Given the description of an element on the screen output the (x, y) to click on. 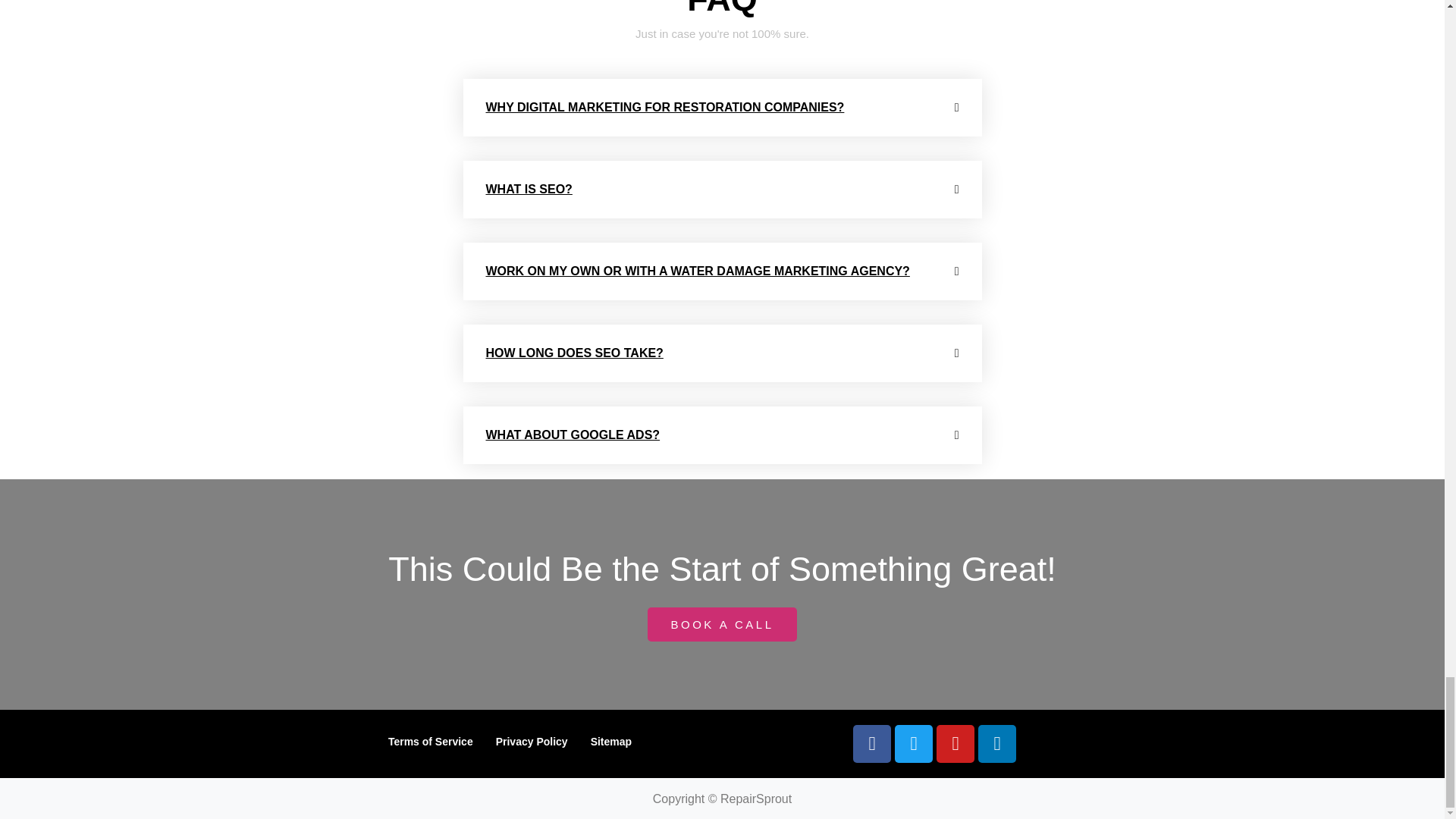
WHAT ABOUT GOOGLE ADS? (571, 434)
Privacy Policy (531, 741)
BOOK A CALL (721, 624)
WORK ON MY OWN OR WITH A WATER DAMAGE MARKETING AGENCY? (696, 270)
Terms of Service (430, 741)
Twitter (914, 743)
Sitemap (611, 741)
WHAT IS SEO? (528, 188)
Linkedin (997, 743)
WHY DIGITAL MARKETING FOR RESTORATION COMPANIES? (664, 106)
Facebook (872, 743)
Youtube (955, 743)
HOW LONG DOES SEO TAKE? (573, 352)
